Given the description of an element on the screen output the (x, y) to click on. 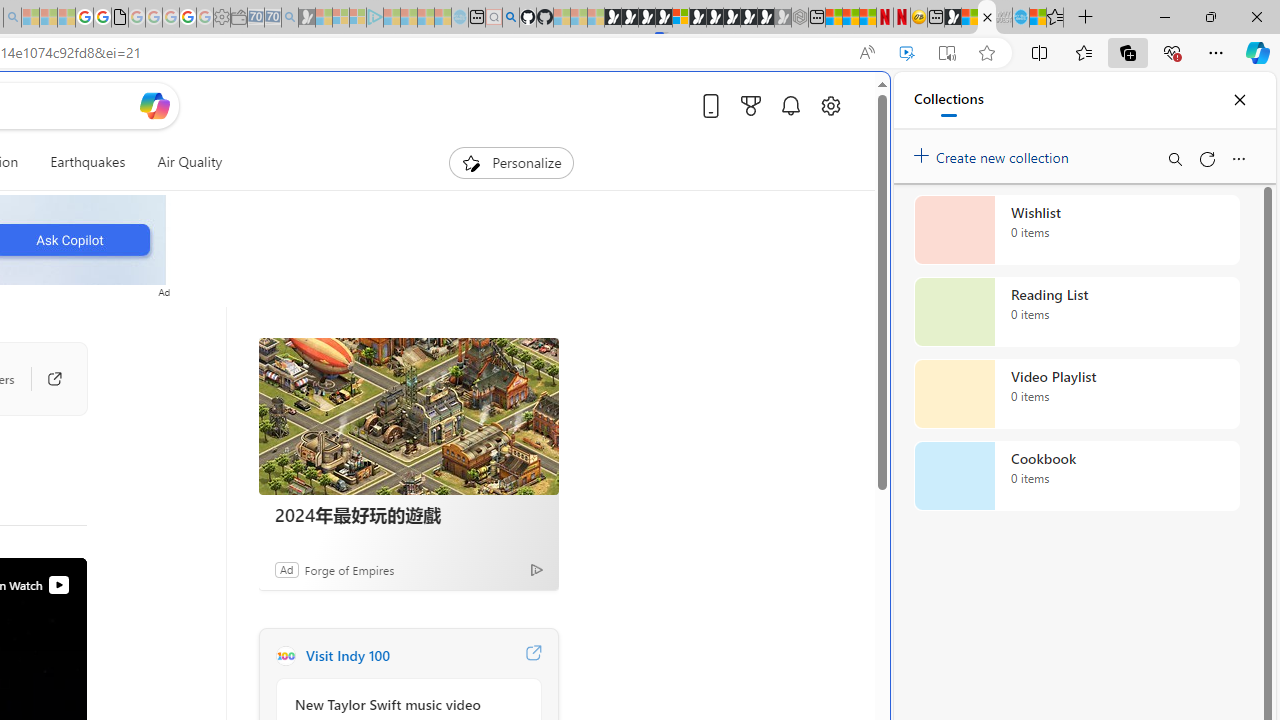
Forge of Empires (349, 569)
Earth has six continents not seven, radical new study claims (986, 17)
To get missing image descriptions, open the context menu. (471, 162)
Sign in to your account (680, 17)
Air Quality (189, 162)
